Given the description of an element on the screen output the (x, y) to click on. 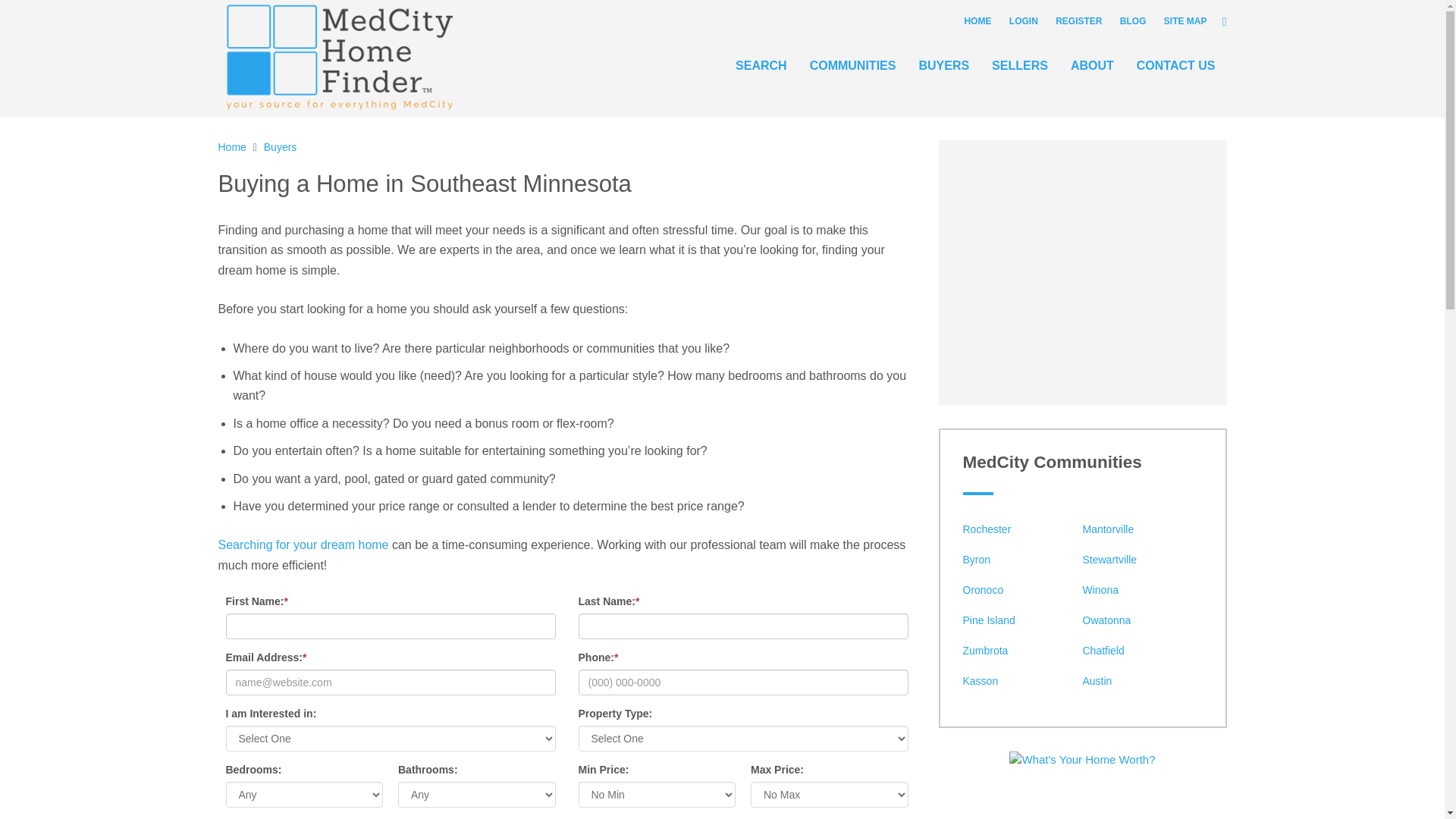
SITE MAP (1185, 20)
REGISTER (1078, 20)
COMMUNITIES (852, 65)
LOGIN (1023, 20)
HOME (977, 20)
BUYERS (943, 65)
BLOG (1133, 20)
SEARCH (760, 65)
